Given the description of an element on the screen output the (x, y) to click on. 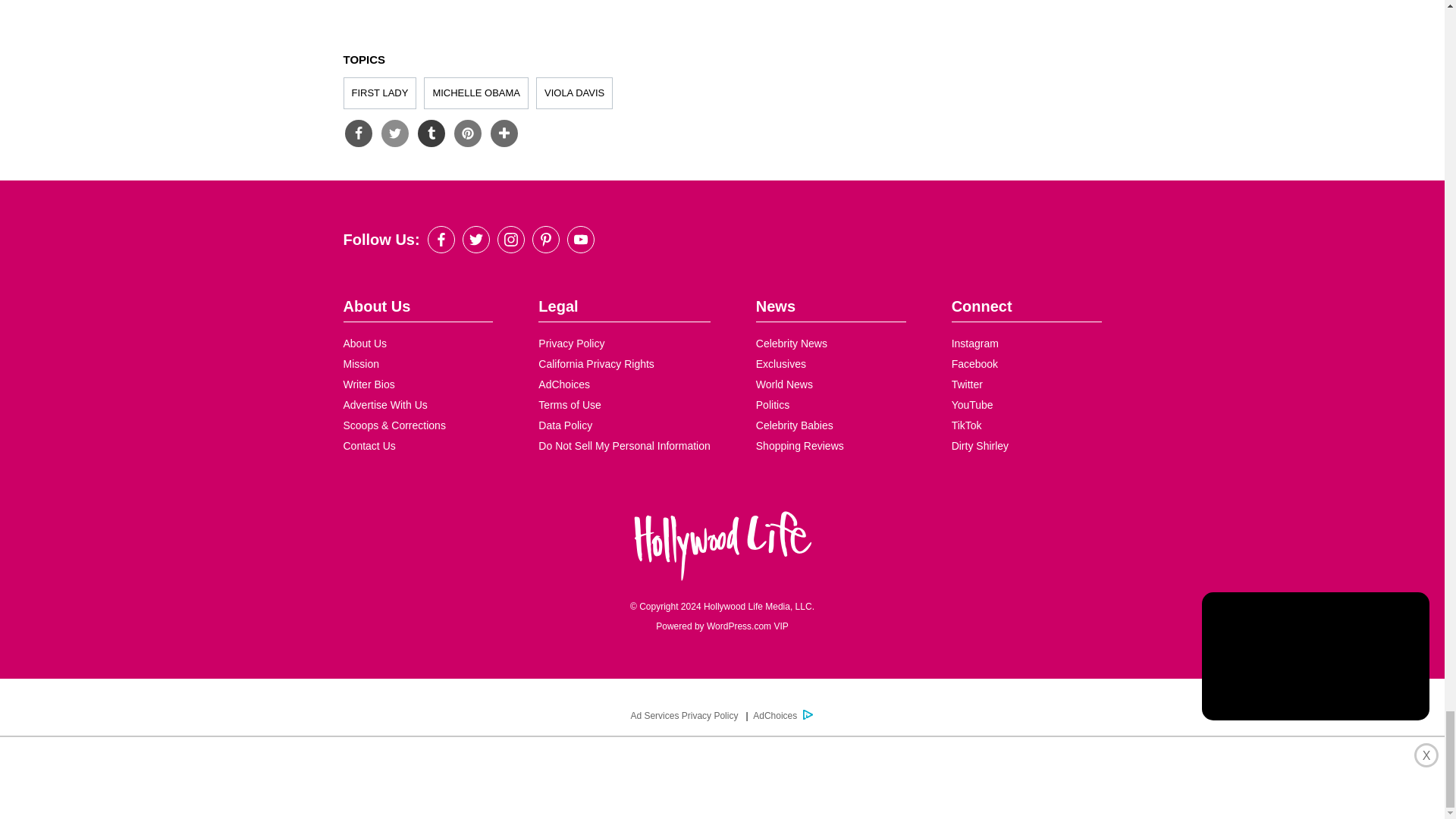
Tweet (393, 133)
Share on Facebook (357, 133)
Pin it (466, 133)
Post to Tumblr (430, 133)
More Share Options (502, 133)
